Given the description of an element on the screen output the (x, y) to click on. 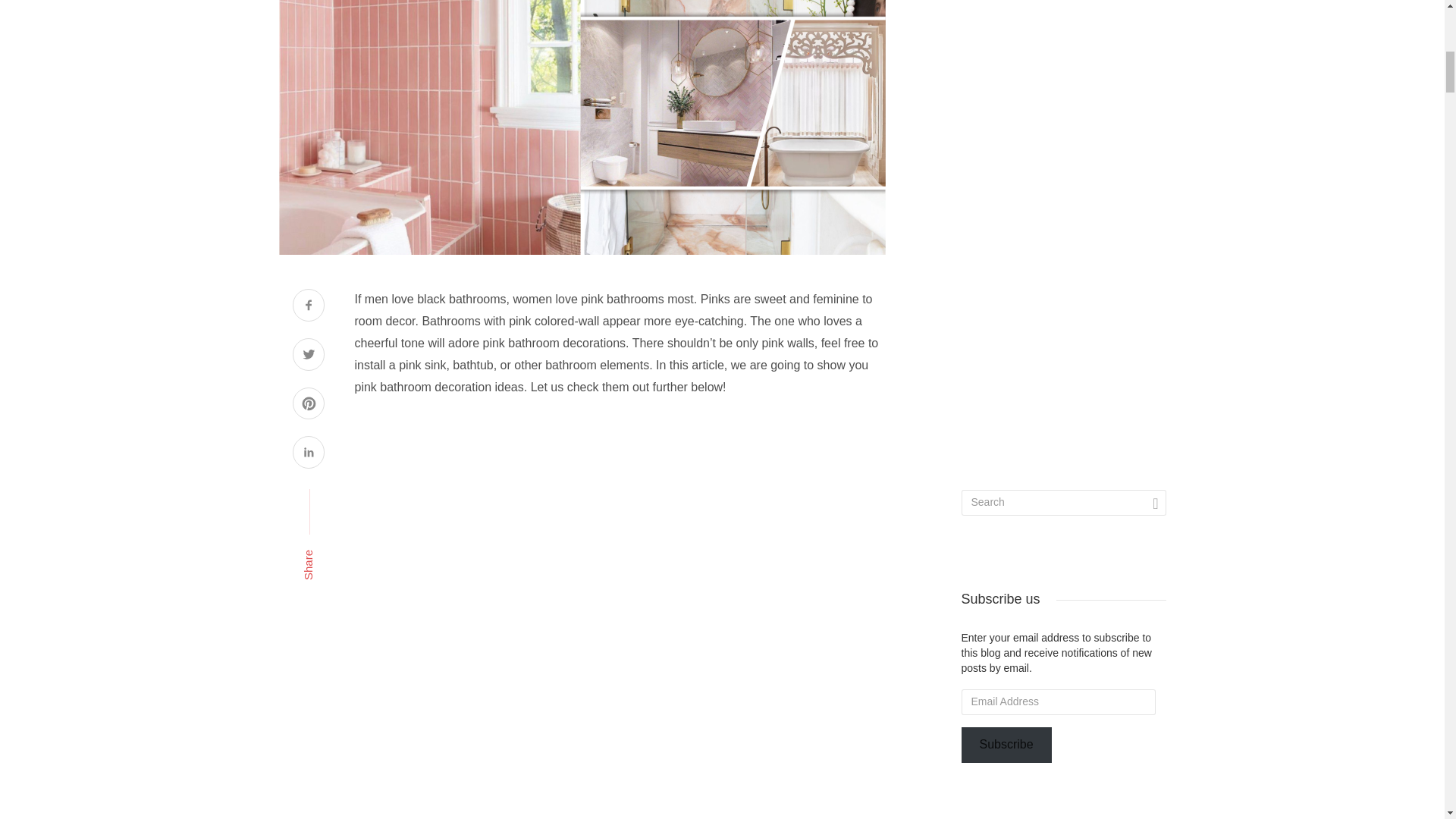
Share on Pinterest (308, 405)
Share on Facebook (308, 307)
Share on Twitter (308, 356)
Share on Linkedin (308, 453)
